Given the description of an element on the screen output the (x, y) to click on. 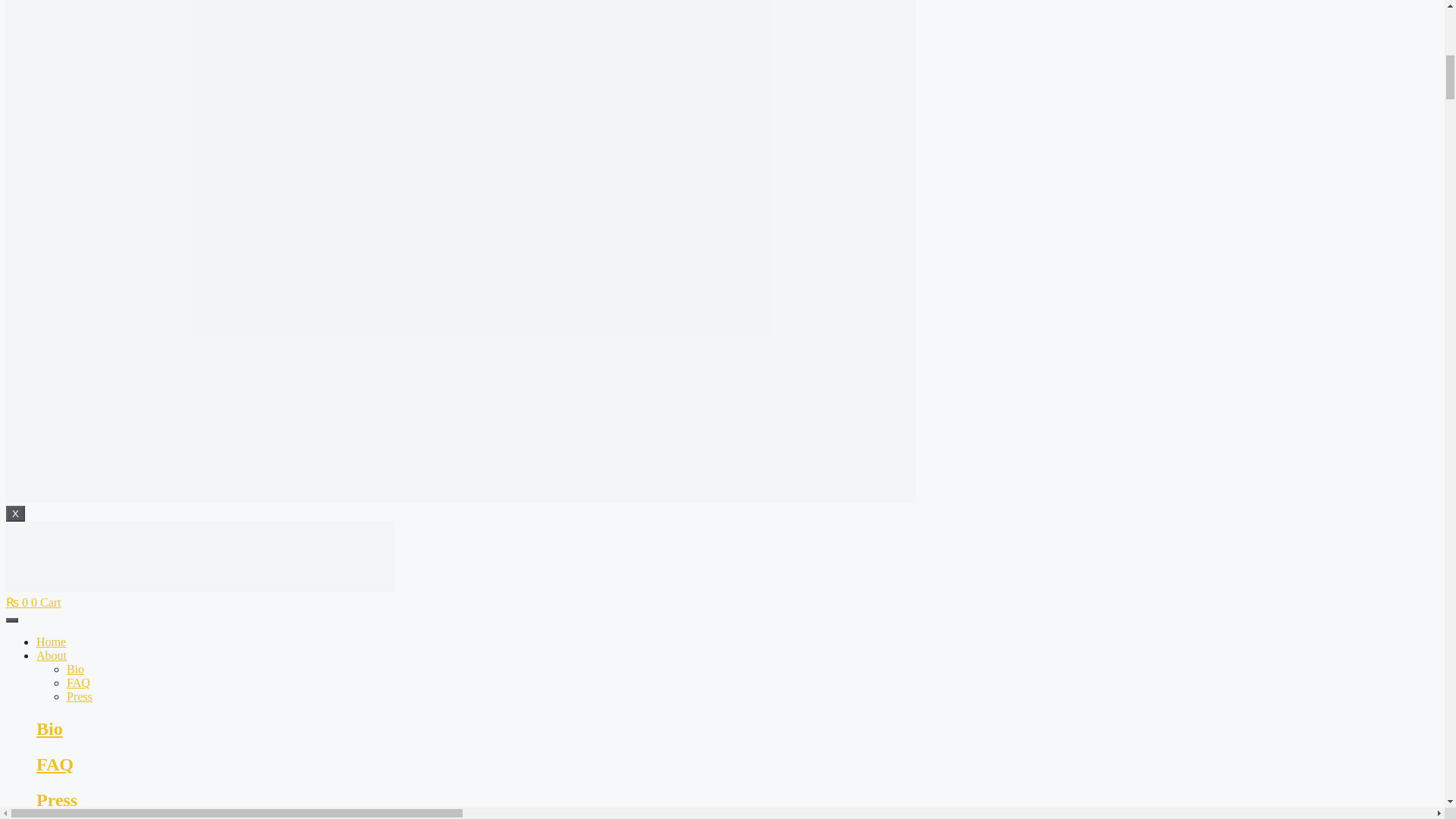
About (51, 655)
Home (50, 641)
FAQ (78, 682)
Press (79, 696)
X (14, 513)
Bio (75, 668)
